Given the description of an element on the screen output the (x, y) to click on. 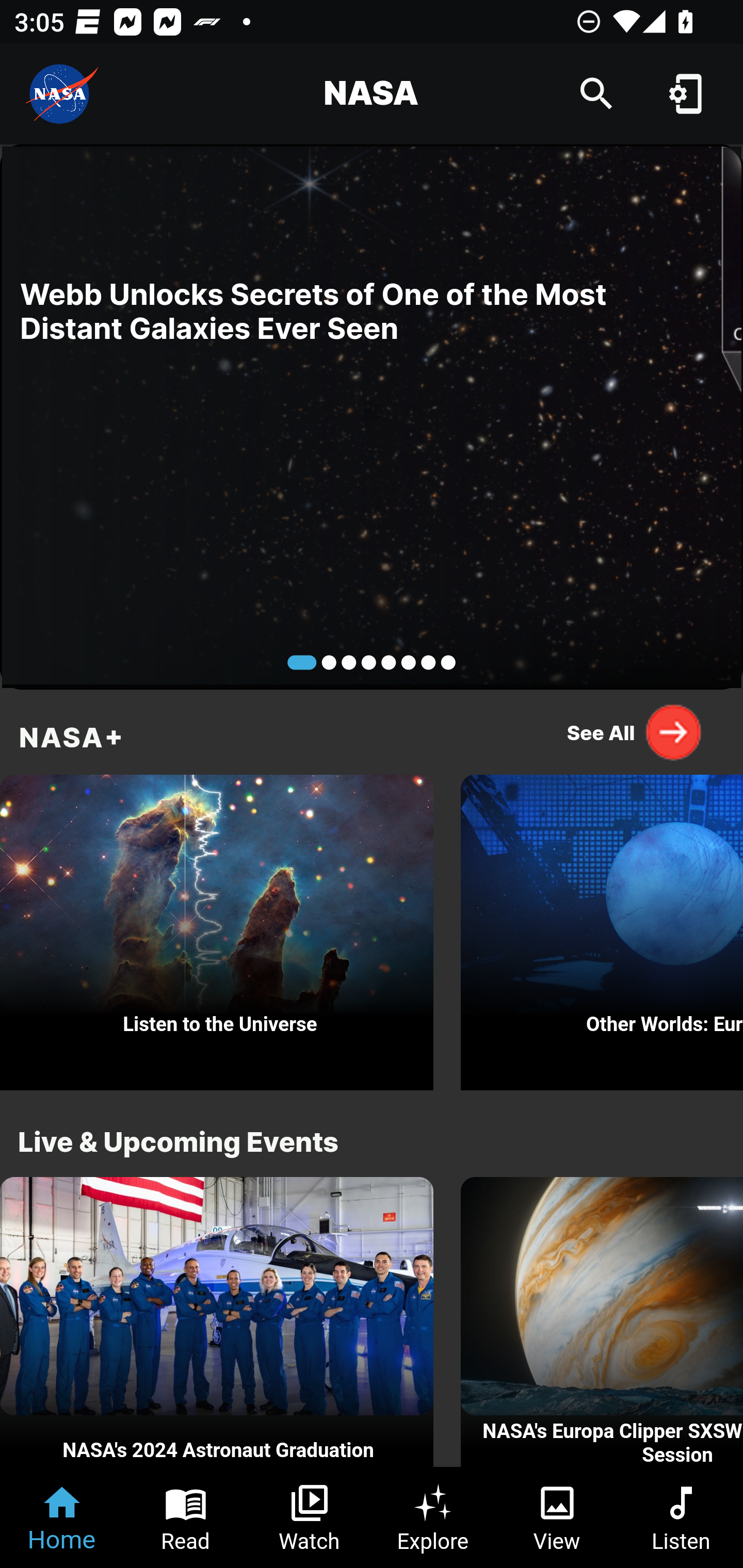
See All (634, 732)
Listen to the Universe (216, 927)
Other Worlds: Europa (601, 927)
NASA's 2024 Astronaut Graduation (216, 1322)
NASA's Europa Clipper SXSW 2024 Opening Session (601, 1322)
Home
Tab 1 of 6 (62, 1517)
Read
Tab 2 of 6 (185, 1517)
Watch
Tab 3 of 6 (309, 1517)
Explore
Tab 4 of 6 (433, 1517)
View
Tab 5 of 6 (556, 1517)
Listen
Tab 6 of 6 (680, 1517)
